Given the description of an element on the screen output the (x, y) to click on. 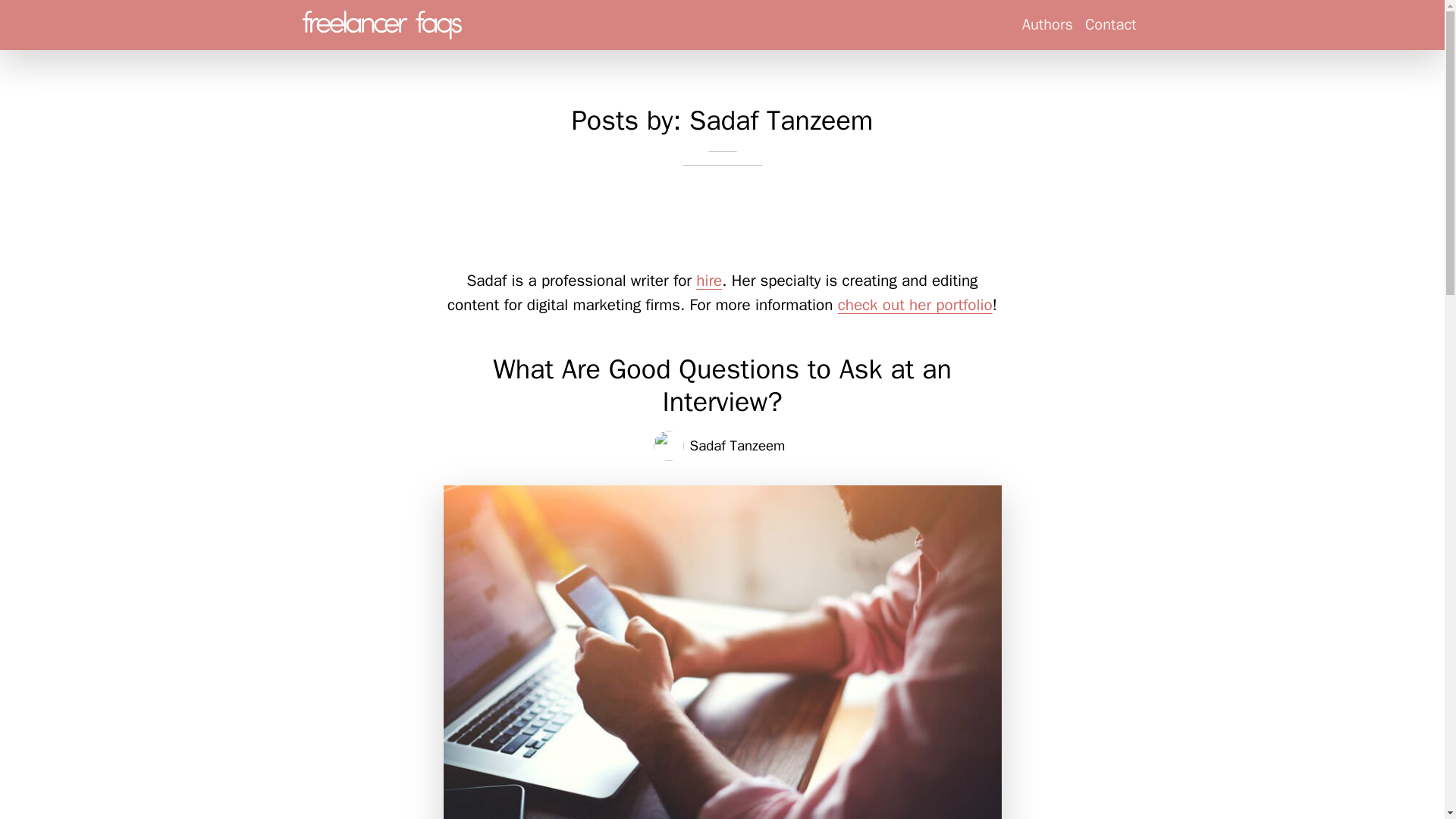
Sadaf Tanzeem (738, 445)
Authors (1047, 24)
check out her portfolio (915, 304)
Contact (1110, 24)
What Are Good Questions to Ask at an Interview? (722, 385)
Menu (381, 24)
hire (708, 280)
